Given the description of an element on the screen output the (x, y) to click on. 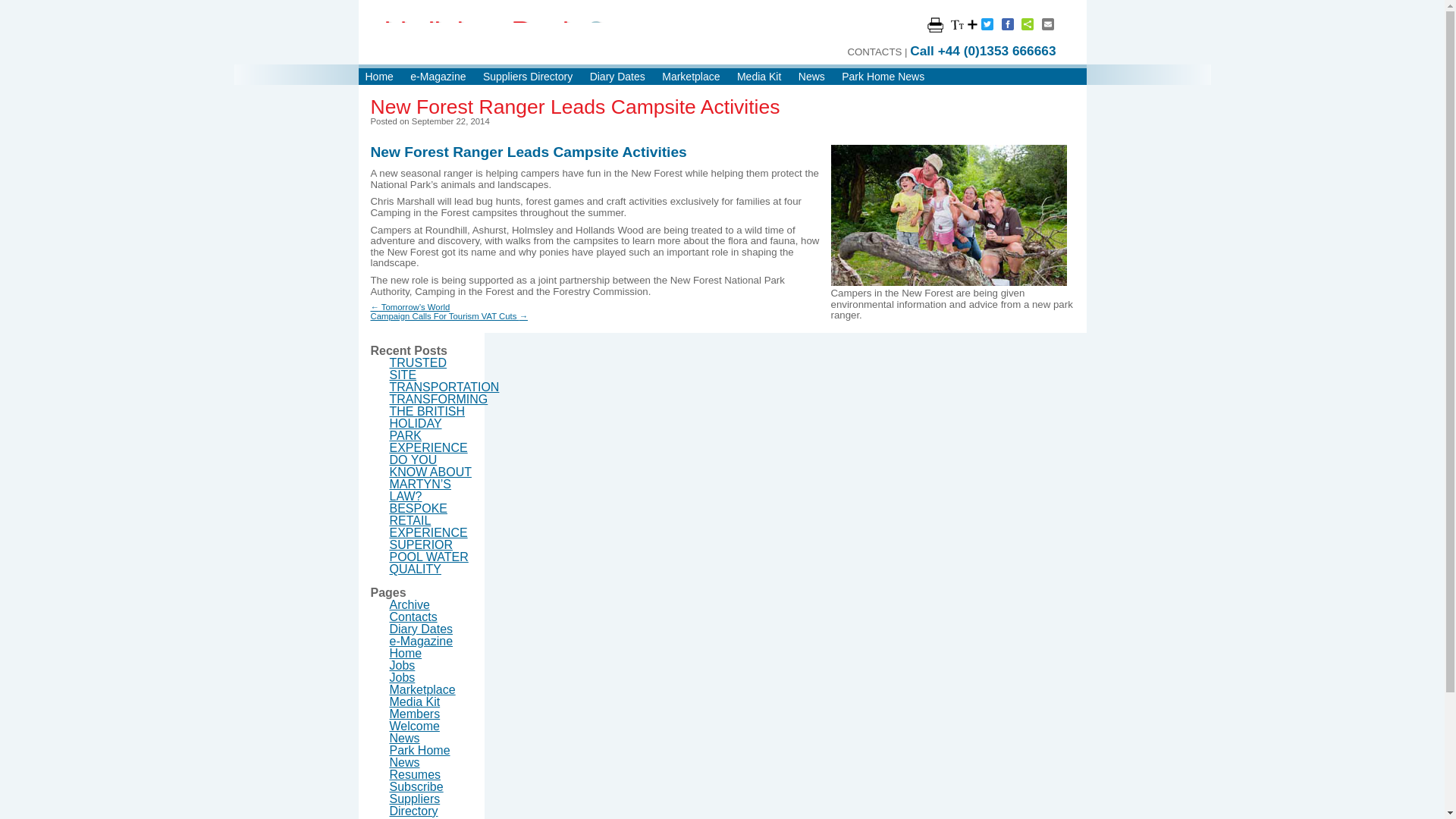
CONTACTS (874, 51)
BESPOKE RETAIL EXPERIENCE (428, 520)
Subscribe (417, 786)
News (811, 76)
Park Home News (882, 76)
Increase Text Size (963, 24)
Home (406, 653)
Jobs (402, 665)
Holiday Park Scene Magazine (538, 38)
Holiday Park Scene Magazine (538, 38)
